Given the description of an element on the screen output the (x, y) to click on. 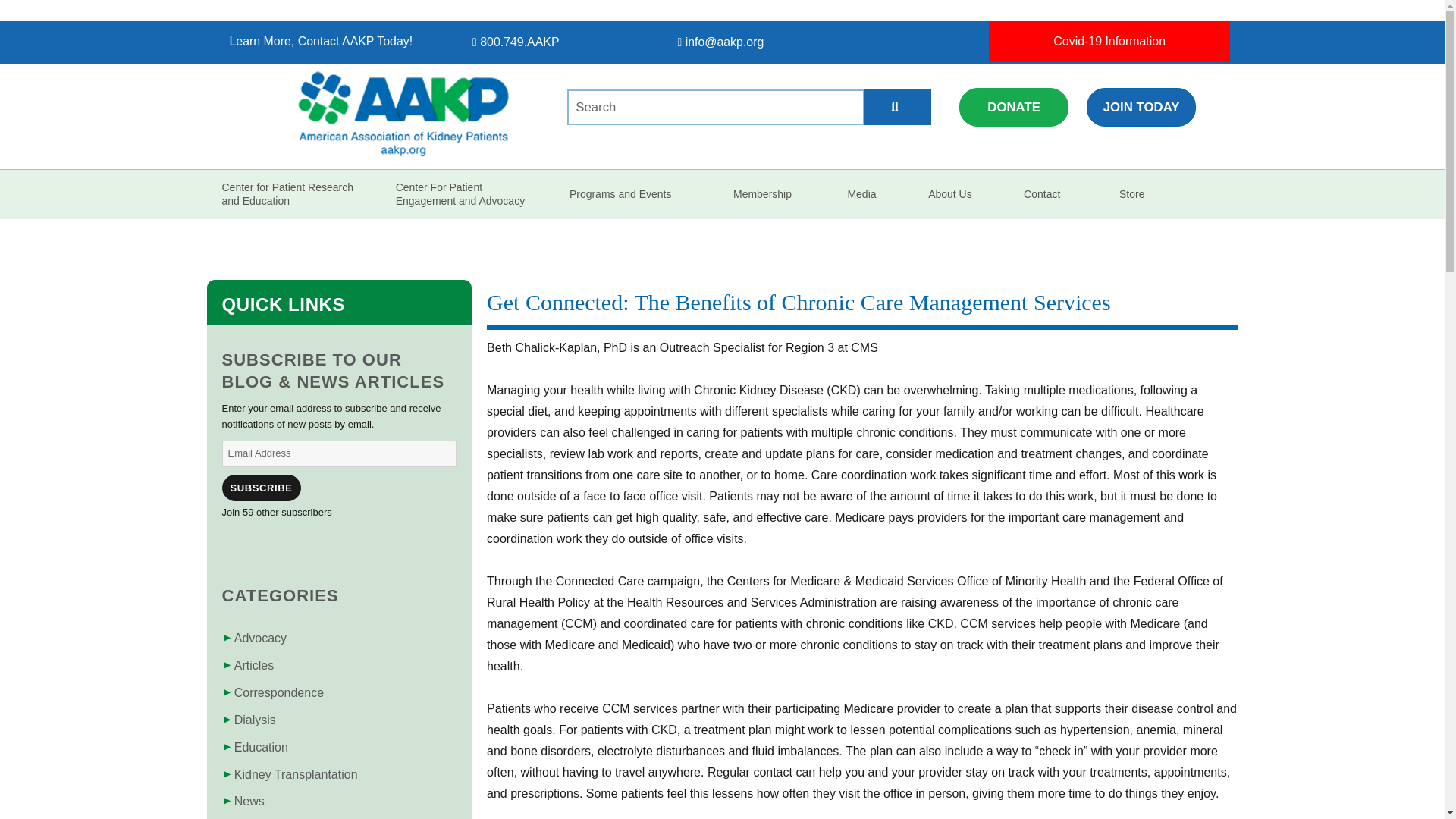
Learn More, Contact AAKP Today! (334, 41)
JOIN TODAY (950, 89)
AAKP (326, 185)
Covid-19 Information (1109, 41)
DONATE (844, 89)
800.749.AAKP (577, 42)
Center for Patient Research and Education (297, 193)
